Given the description of an element on the screen output the (x, y) to click on. 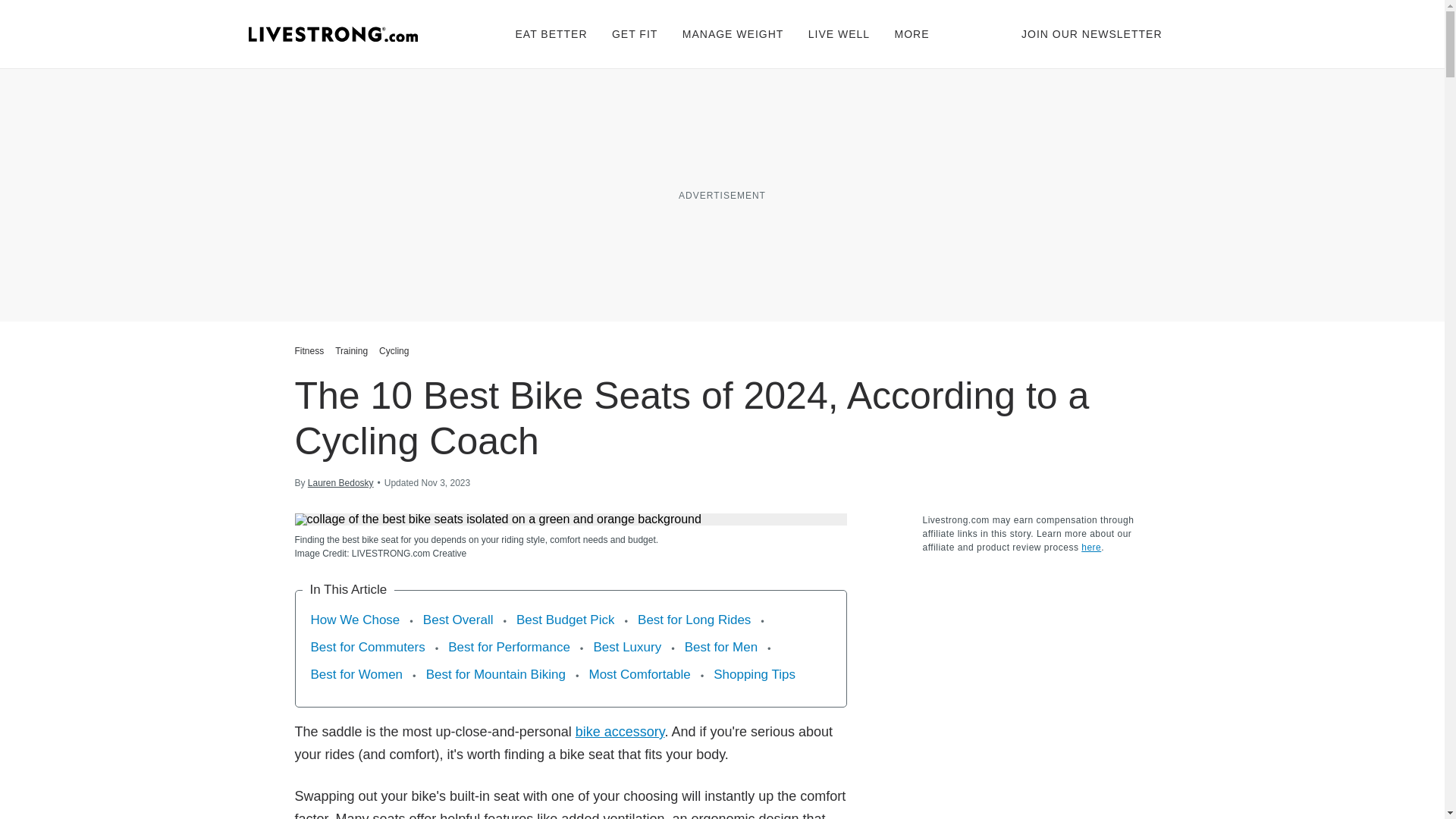
Best for Men (720, 647)
Fitness (310, 350)
JOIN OUR NEWSLETTER (1091, 33)
LIVE WELL (838, 33)
Shopping Tips (753, 674)
Most Comfortable (639, 674)
Cycling (393, 350)
Best for Mountain Biking (496, 674)
GET FIT (634, 33)
Best Overall (458, 619)
